Given the description of an element on the screen output the (x, y) to click on. 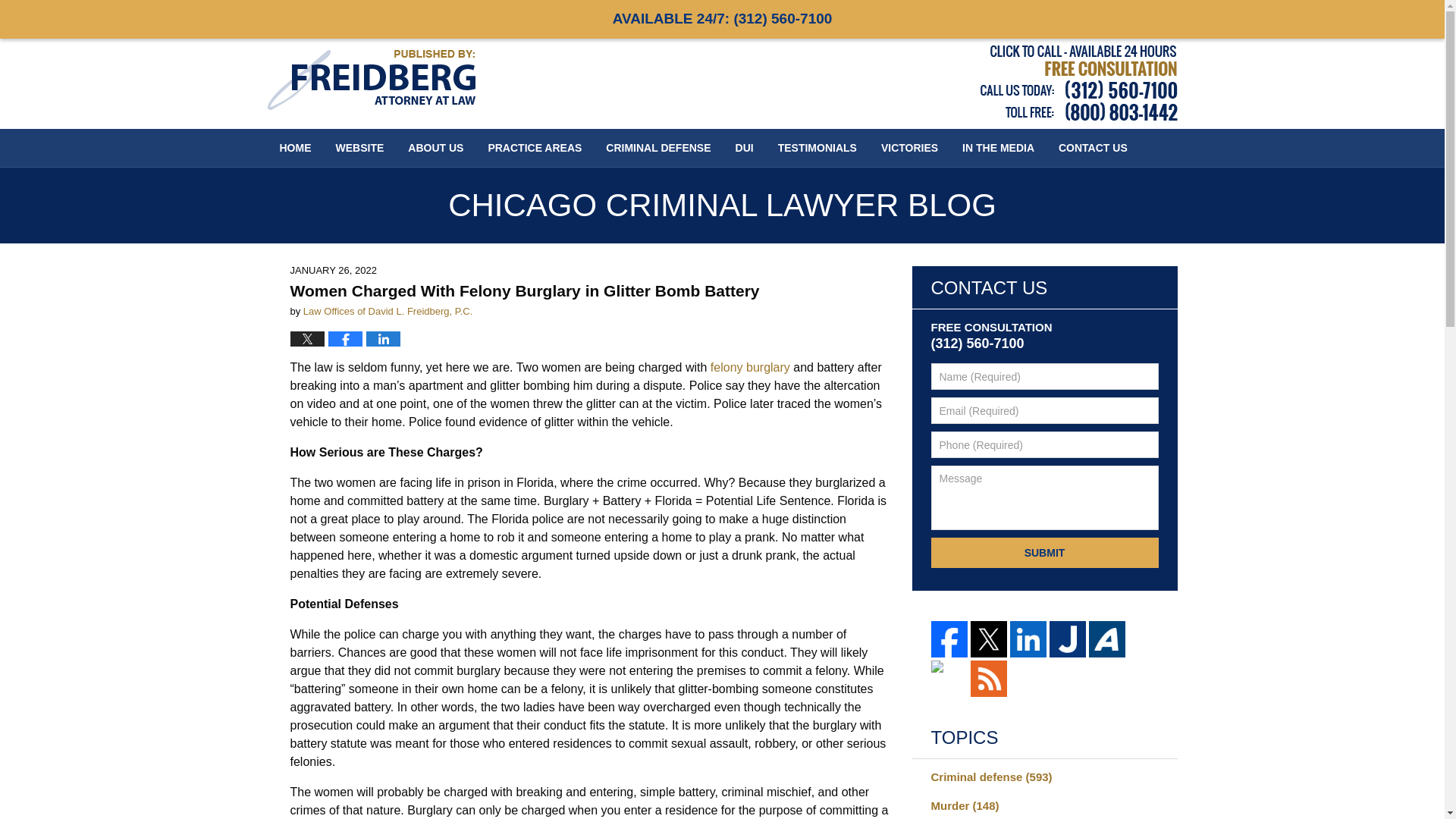
Yelp (949, 678)
DUI (744, 147)
WEBSITE (359, 147)
Please enter a valid phone number. (1044, 444)
Published By Law Offices of David L. Freidberg, P.C. (1077, 82)
Feed (989, 678)
Justia (1067, 638)
Twitter (989, 638)
Chicago Criminal Lawyer Blog (370, 79)
AVVO (1107, 638)
CRIMINAL DEFENSE (658, 147)
HOME (294, 147)
VICTORIES (909, 147)
PRACTICE AREAS (535, 147)
Facebook (949, 638)
